Given the description of an element on the screen output the (x, y) to click on. 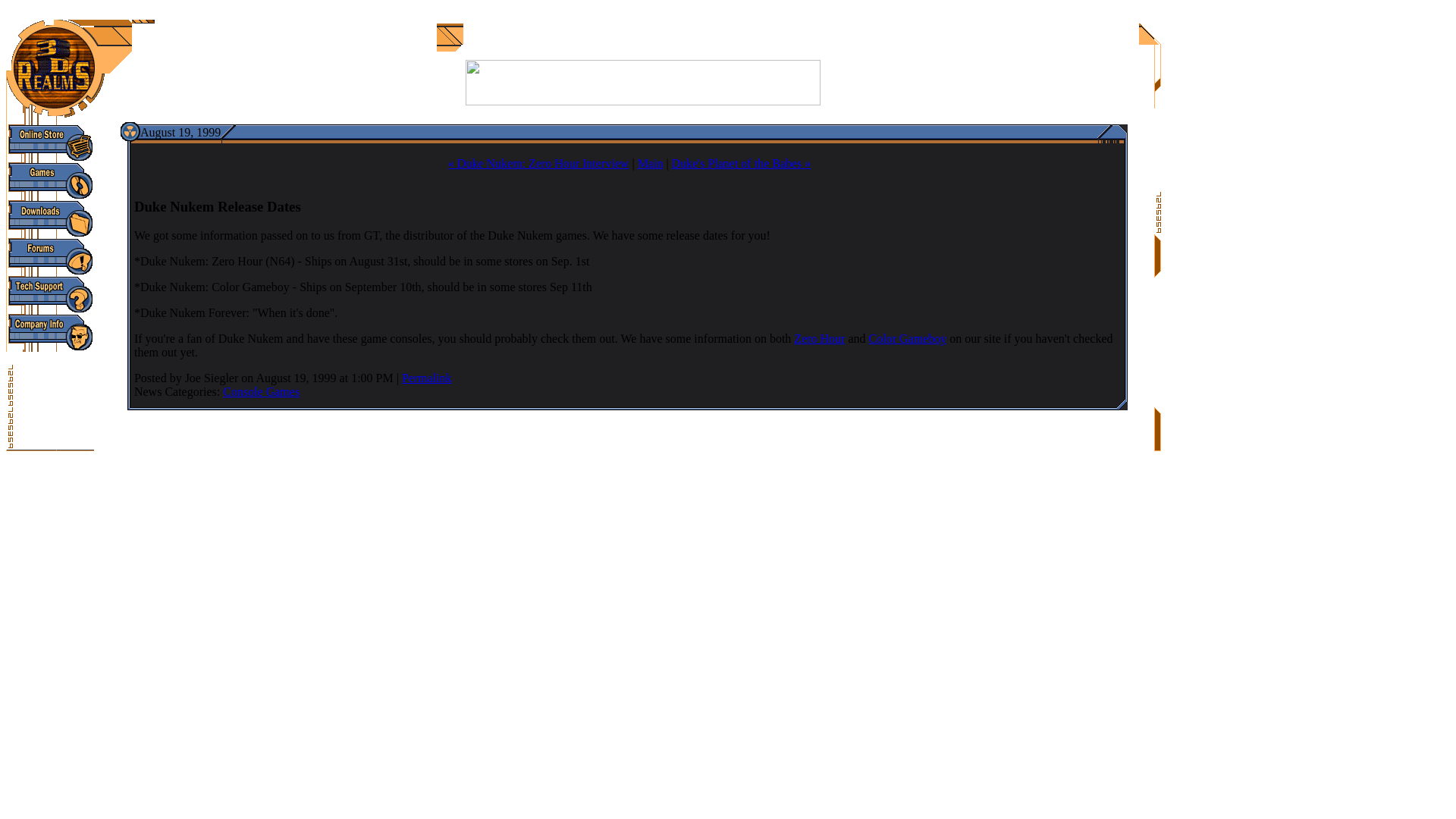
Permalink (426, 377)
Zero Hour (818, 338)
Color Gameboy (908, 338)
Console Games (260, 391)
Main (650, 163)
